Given the description of an element on the screen output the (x, y) to click on. 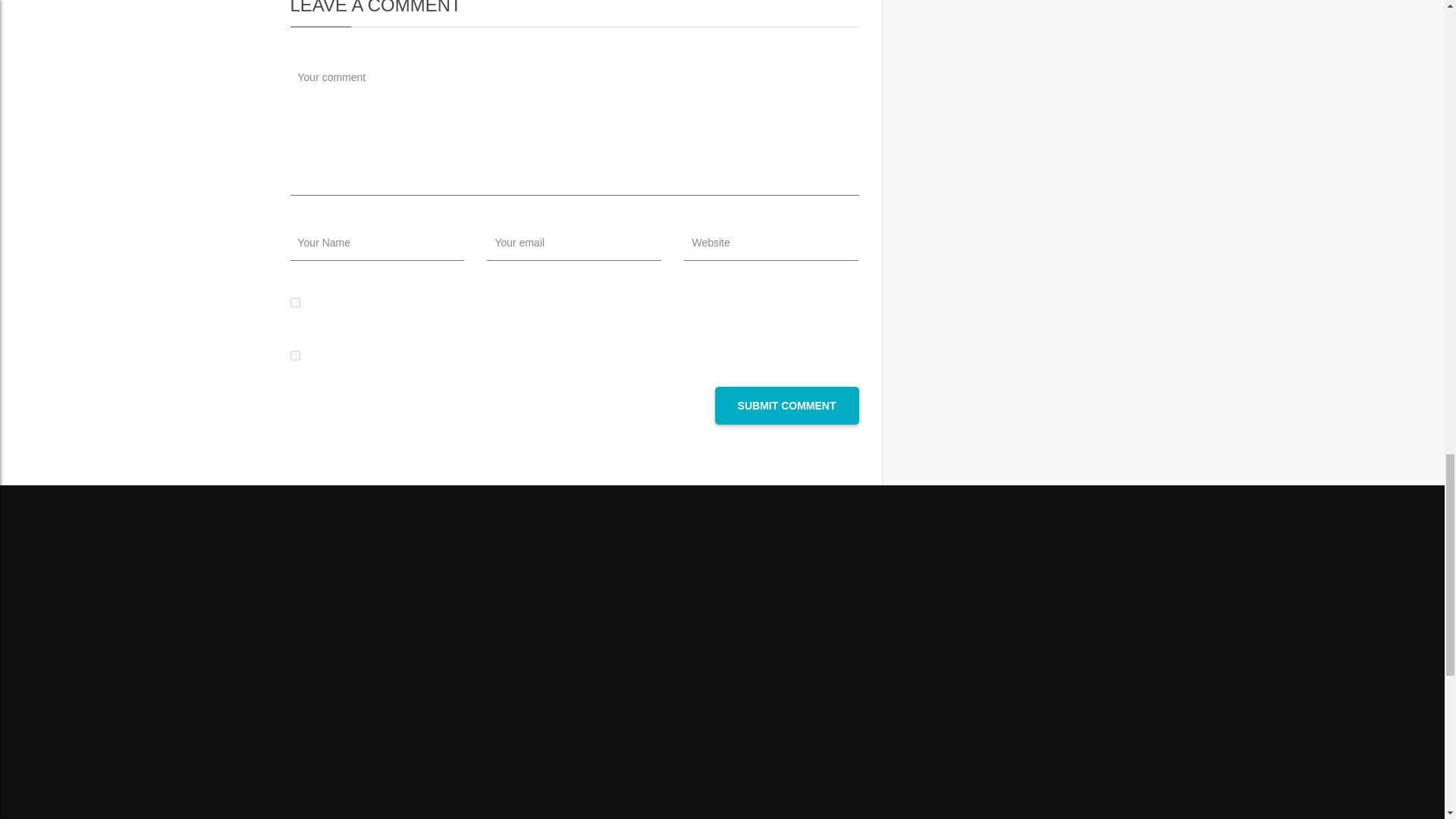
Submit Comment (786, 405)
Submit Comment (786, 405)
